Given the description of an element on the screen output the (x, y) to click on. 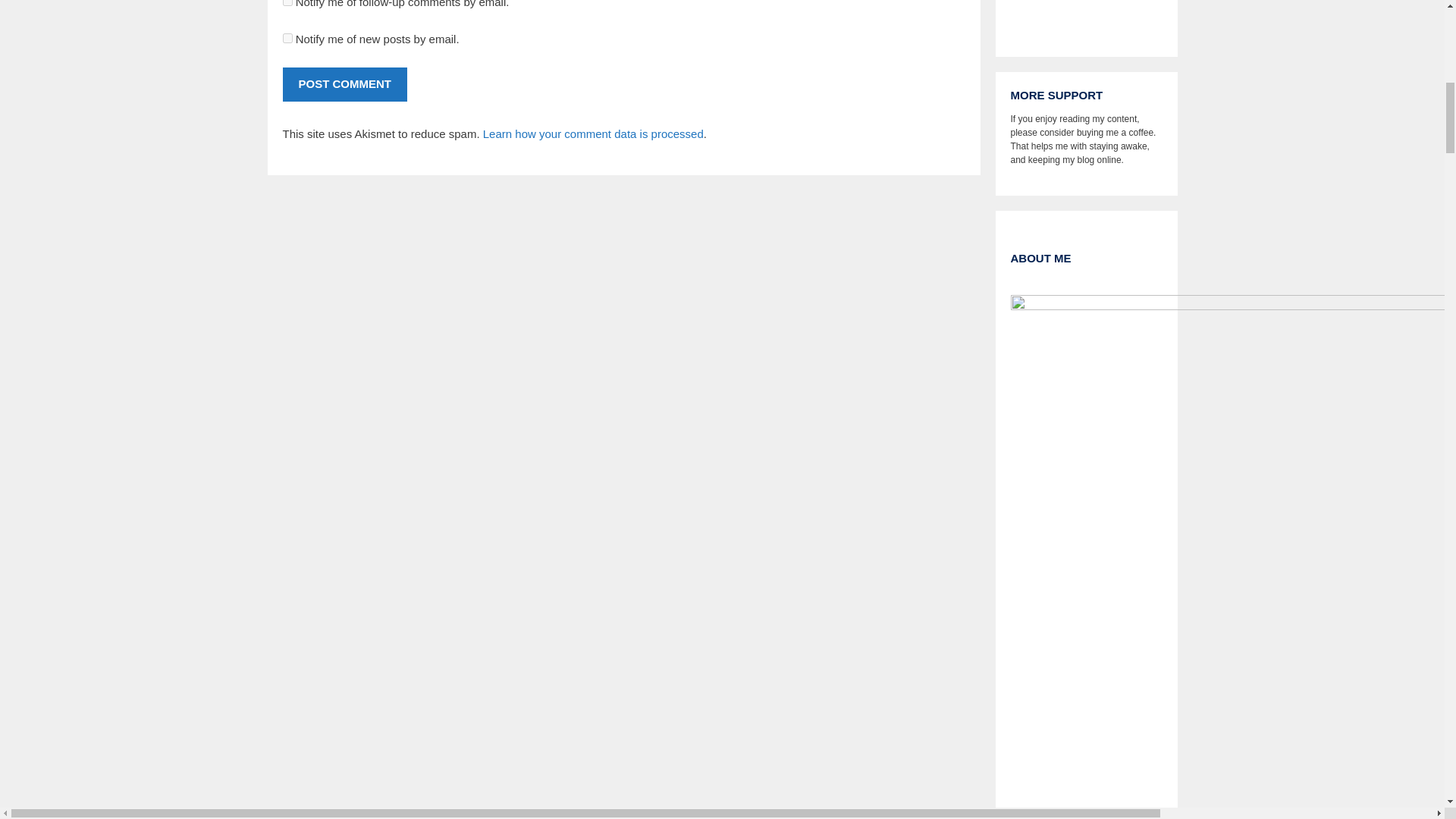
subscribe (287, 38)
Post Comment (344, 84)
subscribe (287, 2)
Learn how your comment data is processed (593, 133)
Post Comment (344, 84)
